Given the description of an element on the screen output the (x, y) to click on. 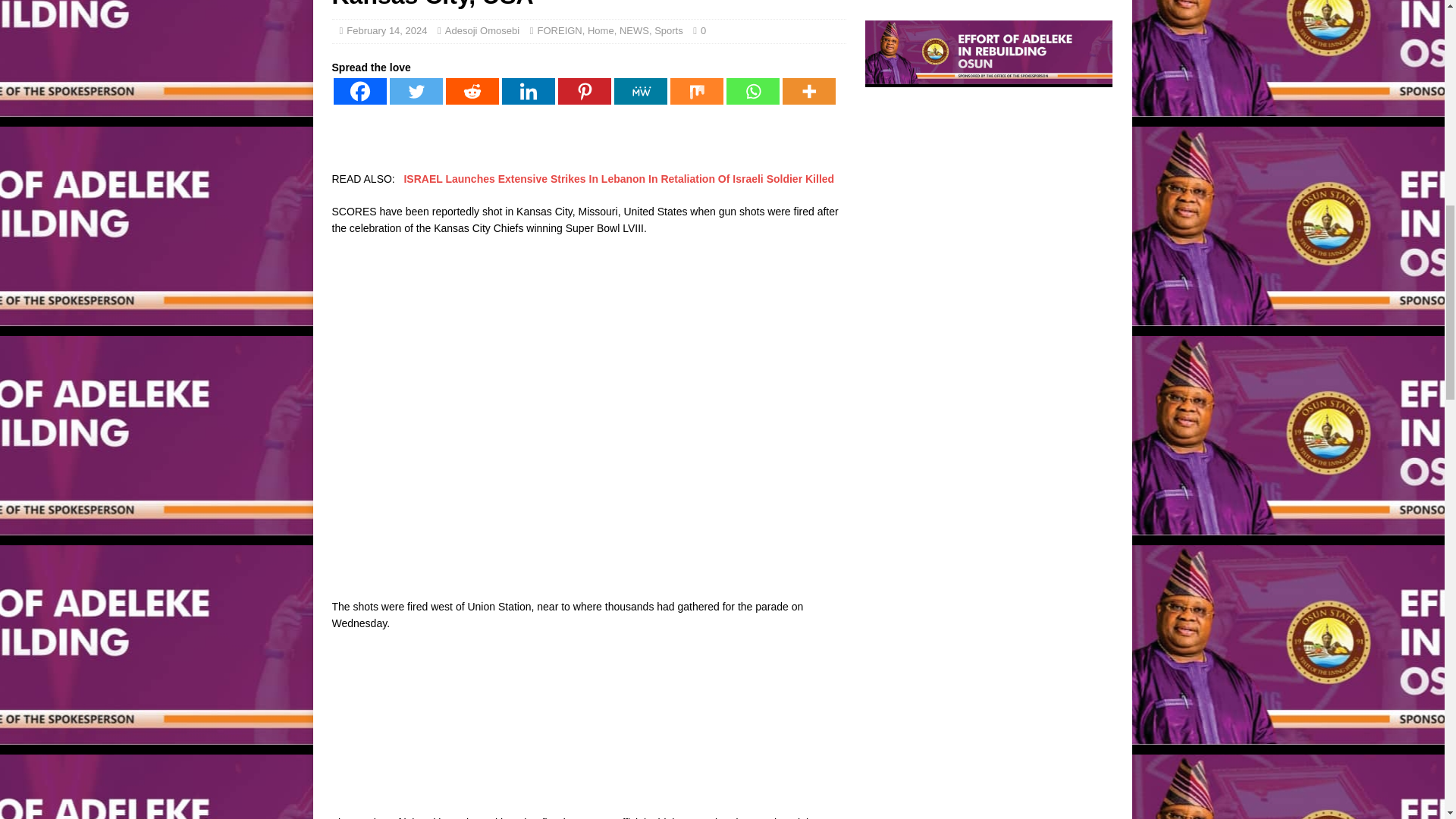
NEWS (634, 30)
Whatsapp (752, 90)
Adesoji Omosebi (482, 30)
Advertisement (588, 711)
Mix (696, 90)
More (809, 90)
MeWe (640, 90)
Twitter (416, 90)
Pinterest (584, 90)
Linkedin (528, 90)
February 14, 2024 (386, 30)
Home (601, 30)
Facebook (360, 90)
